Given the description of an element on the screen output the (x, y) to click on. 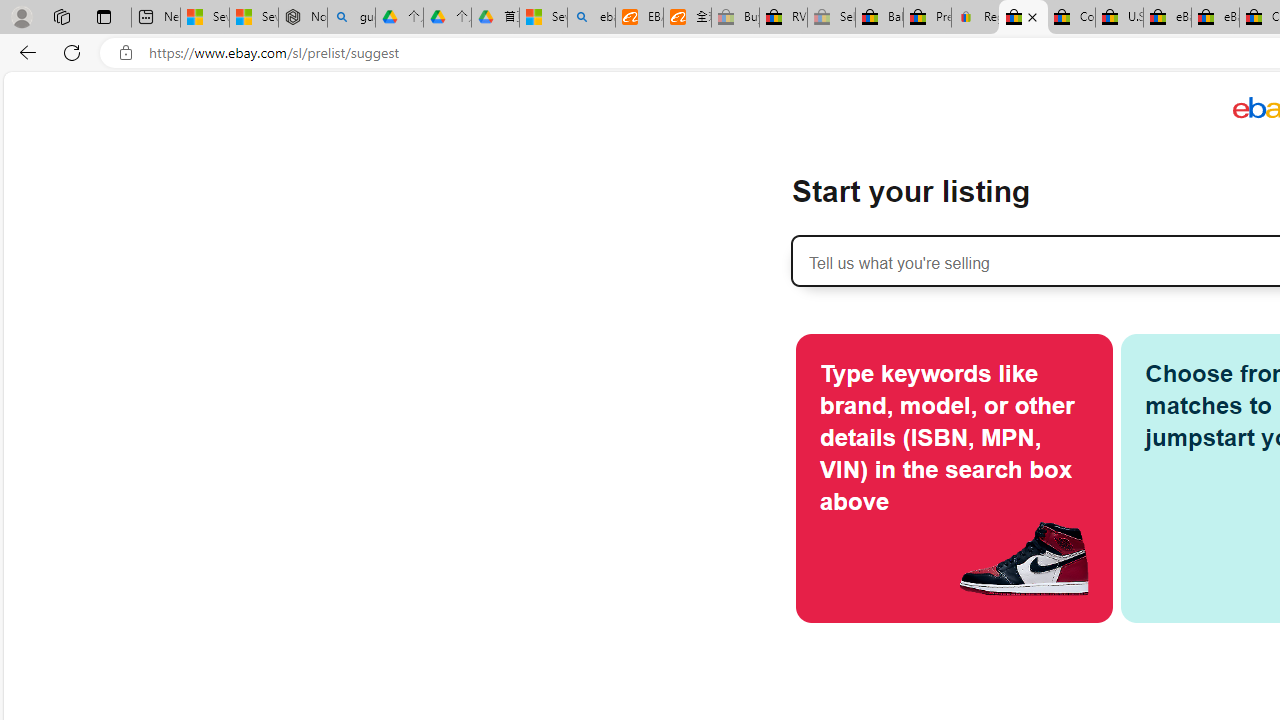
Baby Keepsakes & Announcements for sale | eBay (879, 17)
Consumer Health Data Privacy Policy - eBay Inc. (1071, 17)
Buy Auto Parts & Accessories | eBay - Sleeping (735, 17)
Press Room - eBay Inc. (927, 17)
List an item | eBay (1023, 17)
guge yunpan - Search (351, 17)
Register: Create a personal eBay account (975, 17)
